Given the description of an element on the screen output the (x, y) to click on. 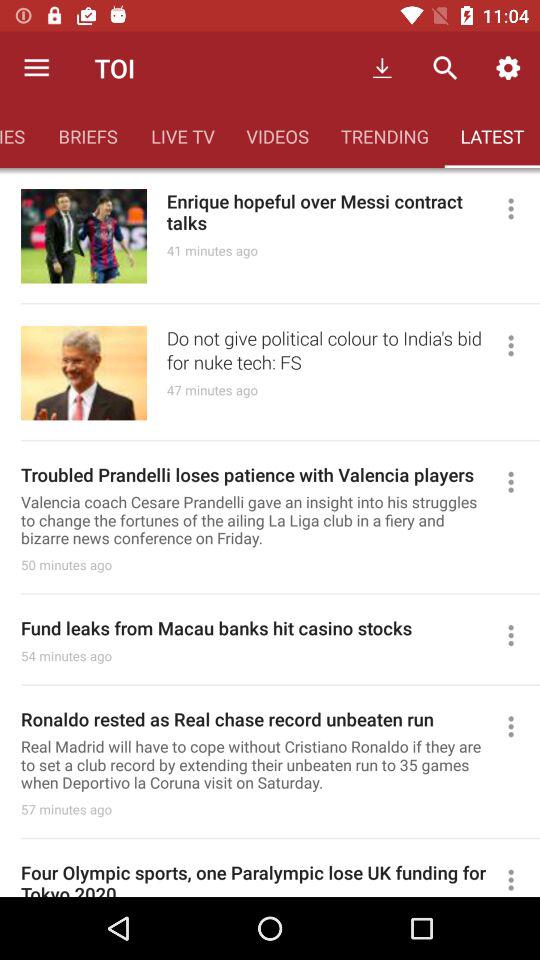
options (519, 482)
